Given the description of an element on the screen output the (x, y) to click on. 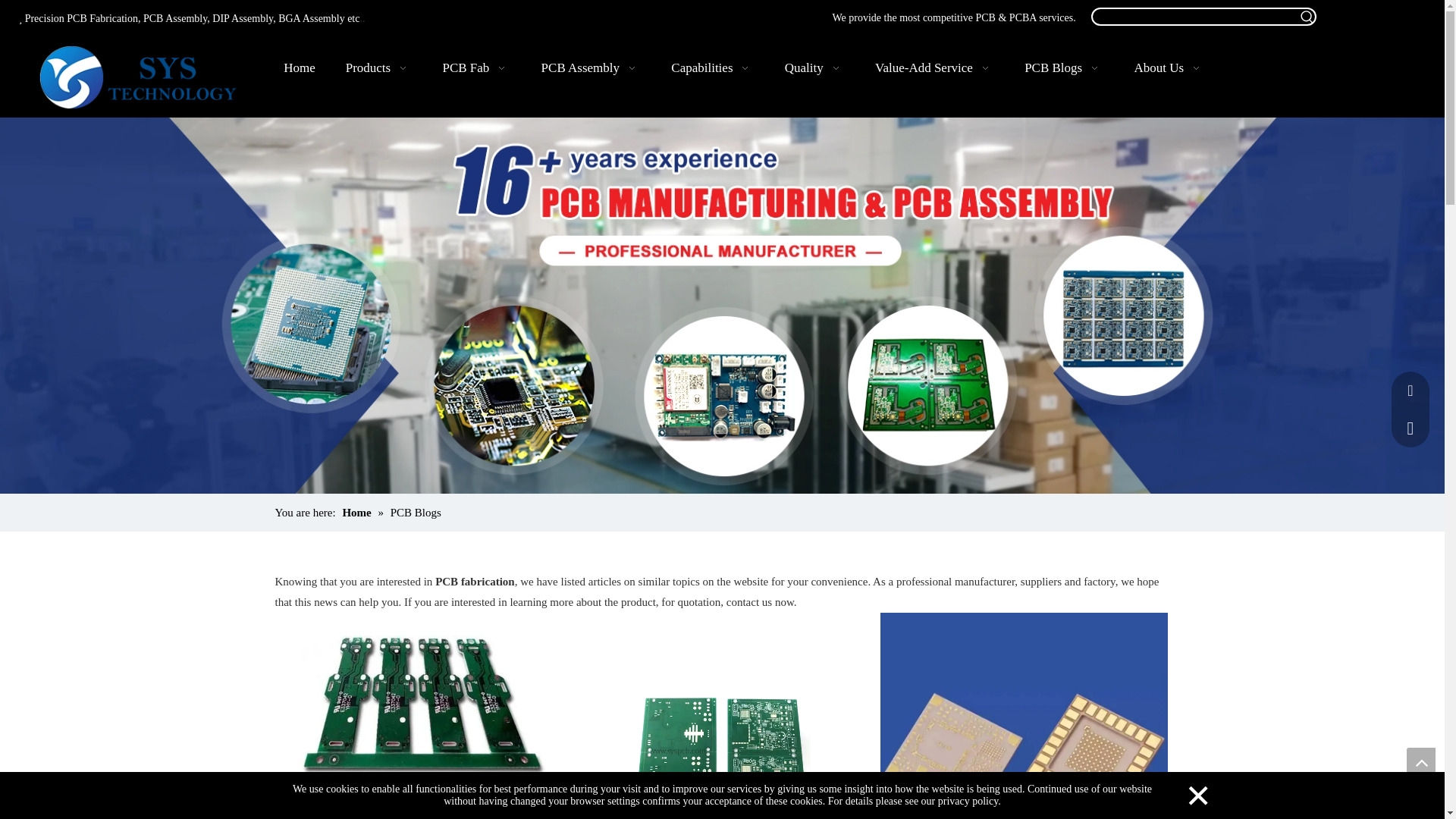
SYS LOGO (145, 77)
Products   (379, 67)
PCB Fab   (475, 67)
PCB Assembly   (590, 67)
Home (298, 67)
